Given the description of an element on the screen output the (x, y) to click on. 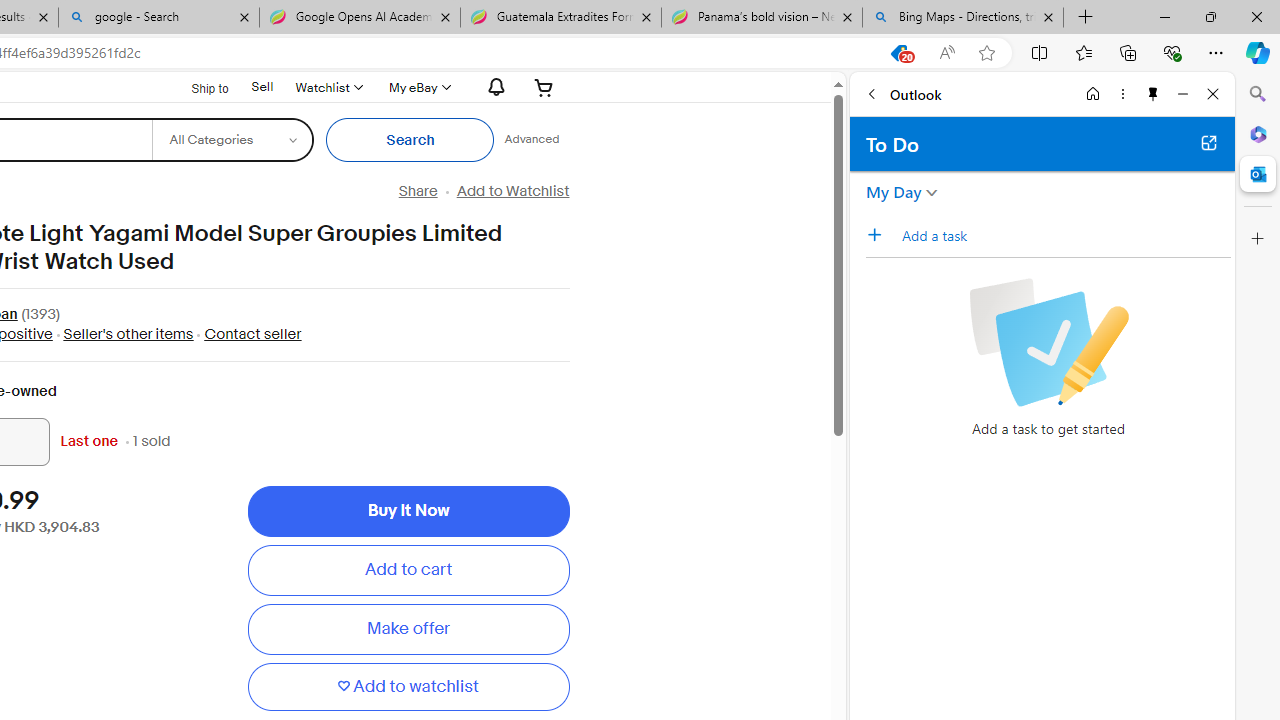
Add a task (881, 235)
